Given the description of an element on the screen output the (x, y) to click on. 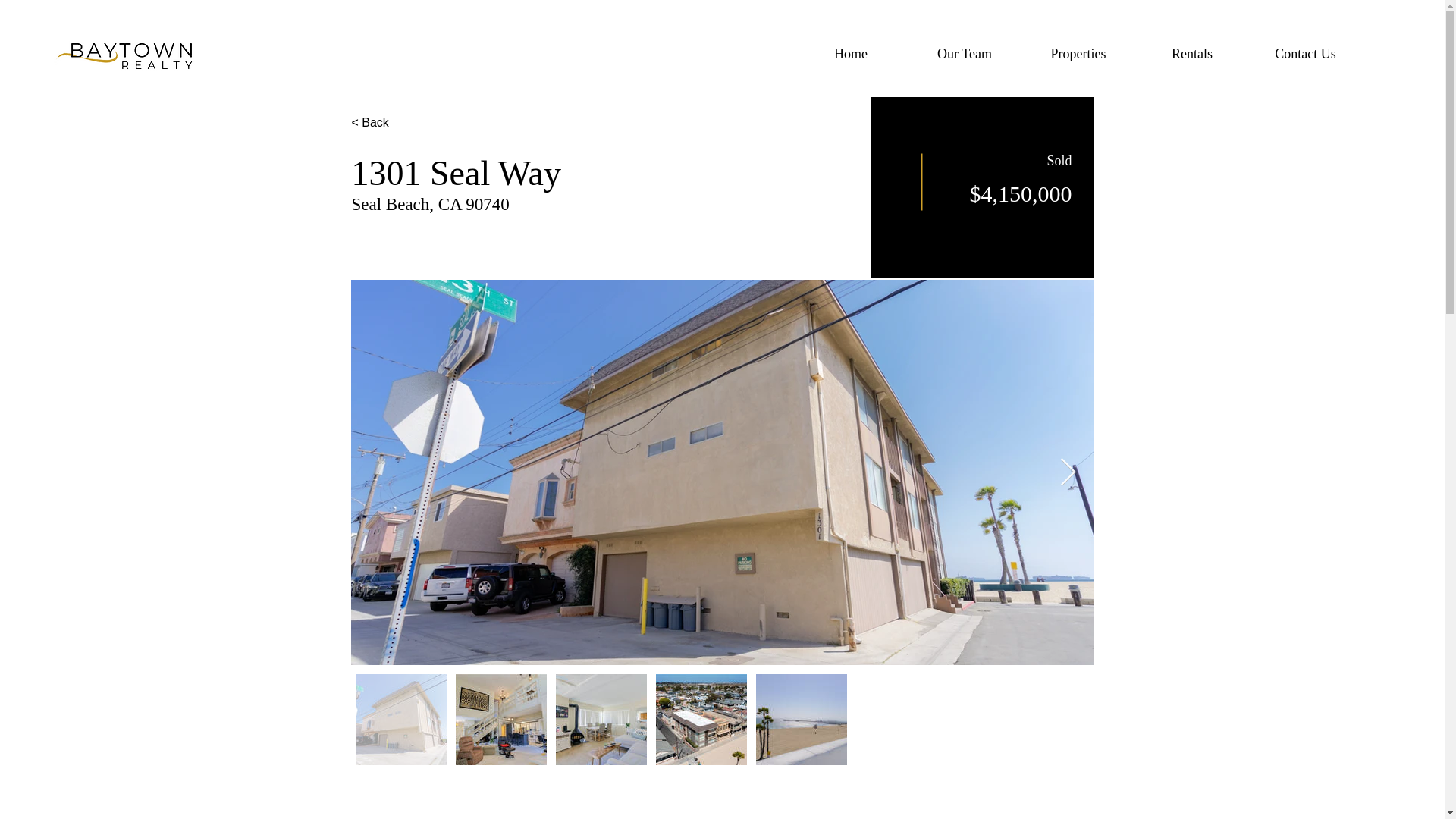
Our Team (964, 52)
Rentals (1192, 52)
Contact Us (1305, 52)
Home (850, 52)
Properties (1078, 52)
